Given the description of an element on the screen output the (x, y) to click on. 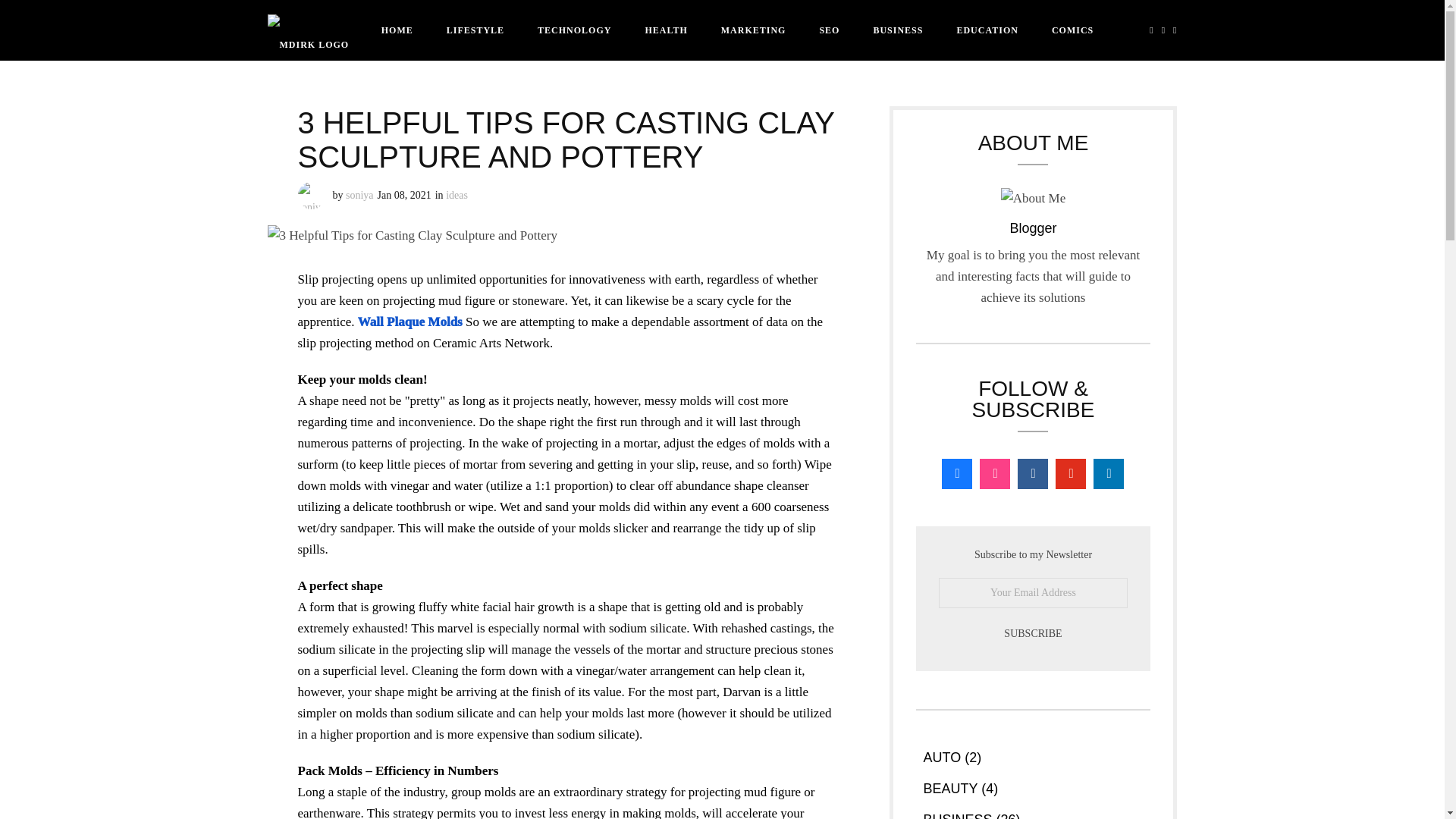
3 Helpful Tips for Casting Clay Sculpture and Pottery (411, 235)
soniya (360, 194)
BUSINESS (897, 30)
COMICS (1072, 30)
3 HELPFUL TIPS FOR CASTING CLAY SCULPTURE AND POTTERY (565, 139)
TECHNOLOGY (574, 30)
ideas (456, 194)
EDUCATION (986, 30)
MARKETING (754, 30)
Mdirk Logo (307, 30)
soniya (360, 194)
HEALTH (664, 30)
Subscribe (1033, 633)
